Given the description of an element on the screen output the (x, y) to click on. 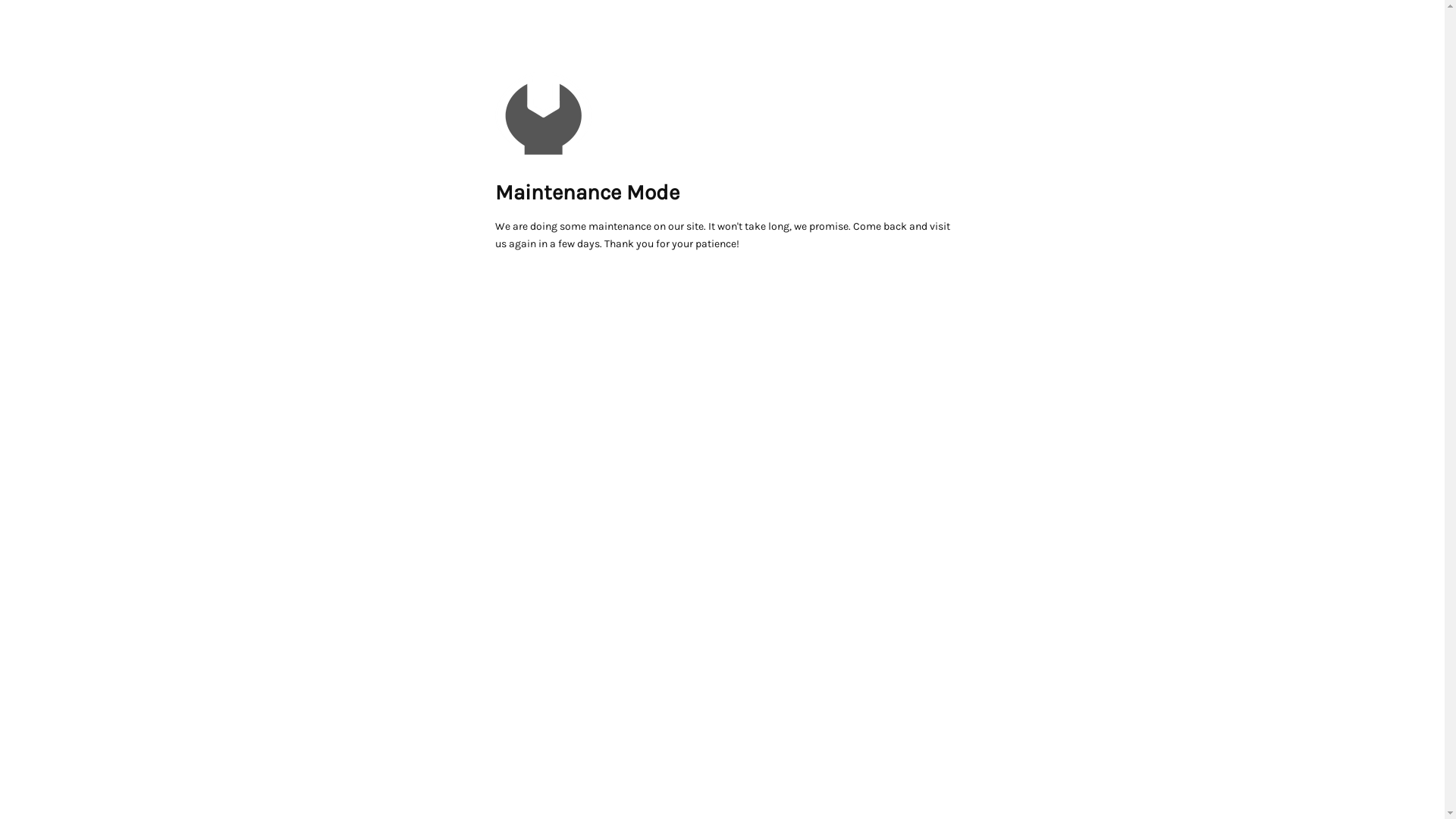
Corza | Advertising & Design Element type: hover (542, 113)
